Given the description of an element on the screen output the (x, y) to click on. 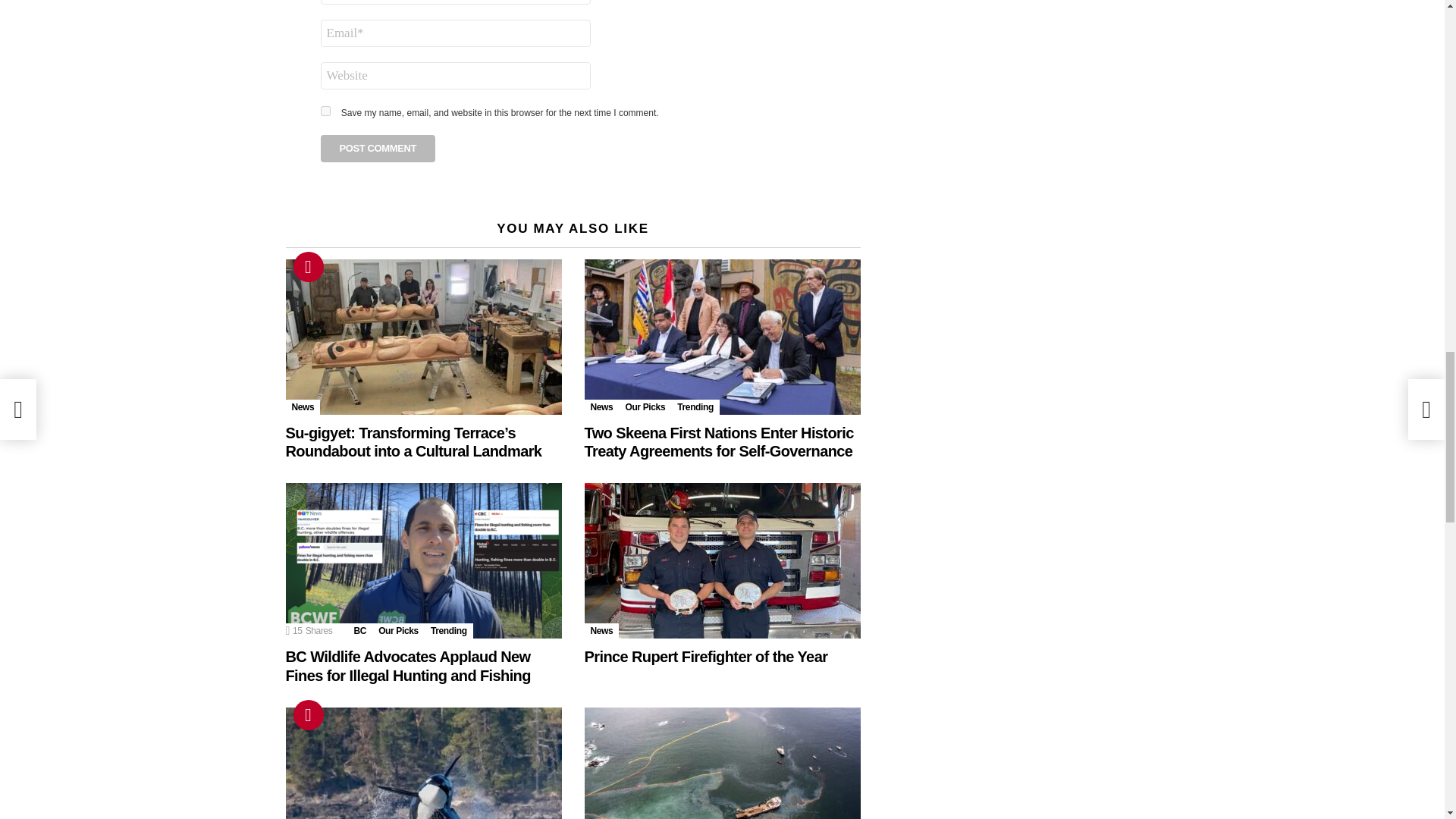
Trending (307, 266)
yes (325, 111)
Post Comment (377, 148)
